Given the description of an element on the screen output the (x, y) to click on. 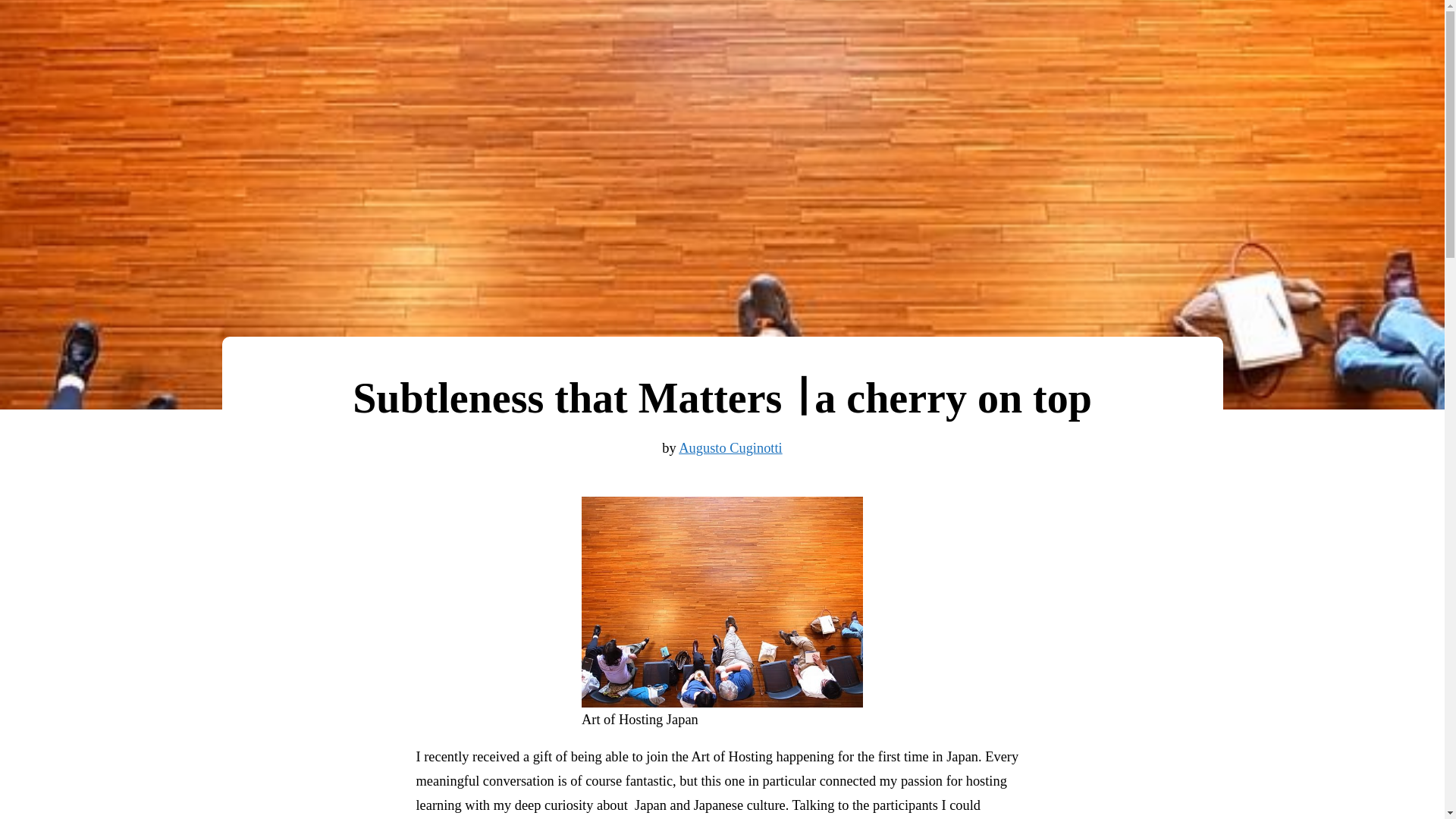
Augusto Cuginotti (729, 447)
R0011688 (721, 601)
